Given the description of an element on the screen output the (x, y) to click on. 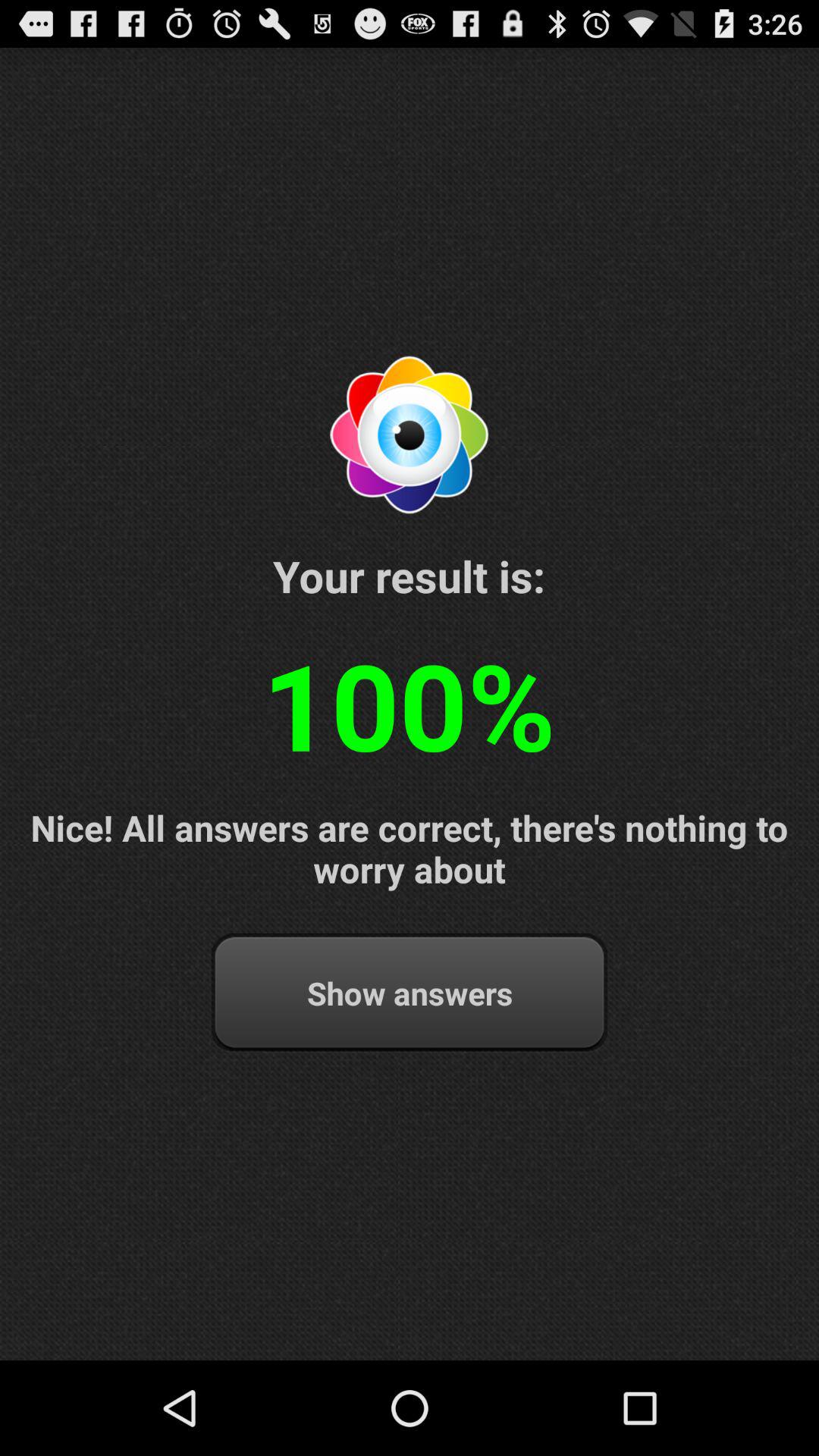
click the show answers (409, 992)
